Given the description of an element on the screen output the (x, y) to click on. 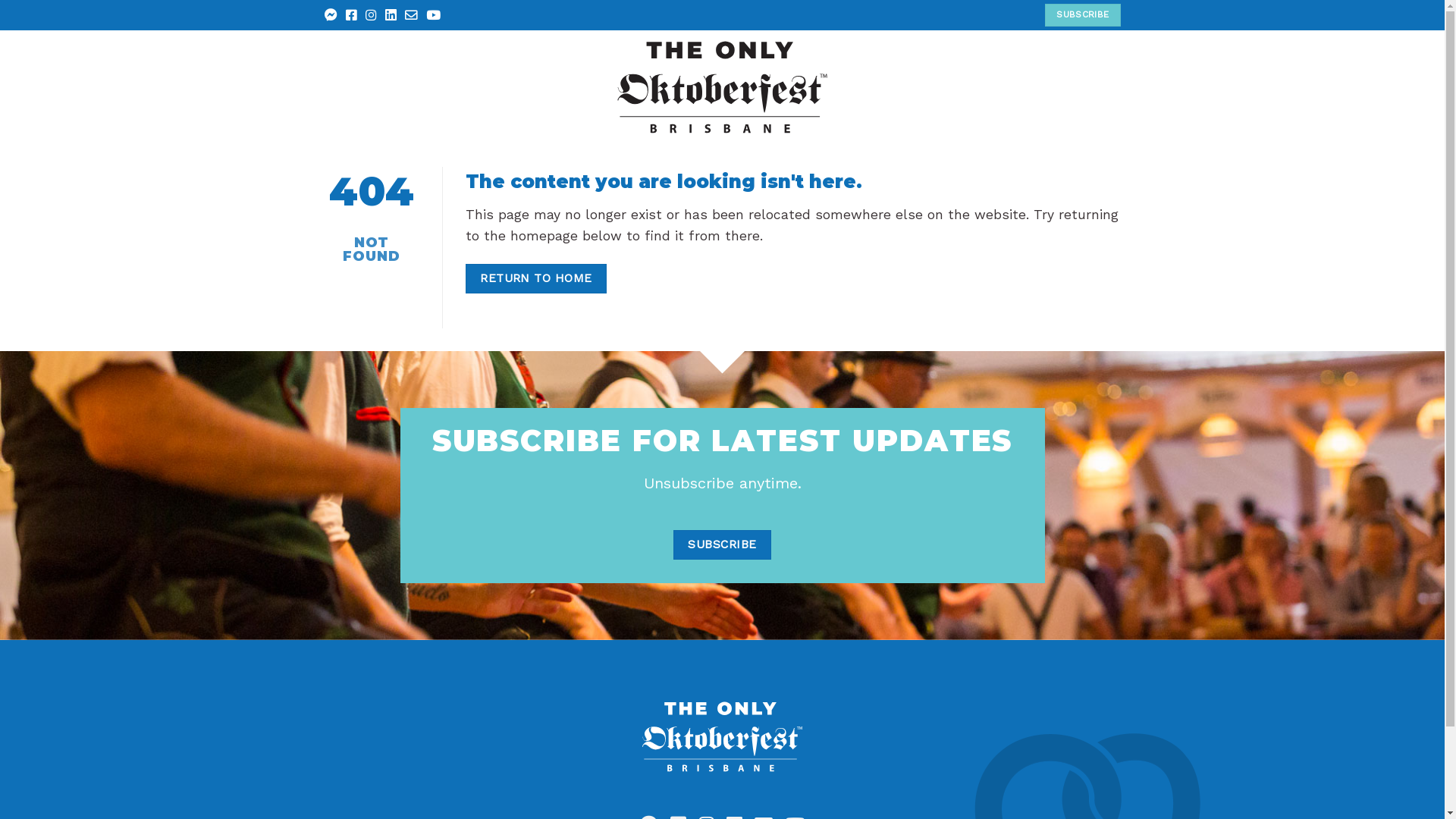
Skip to content Element type: text (0, 0)
RETURN TO HOME Element type: text (536, 278)
Oktoberfest Brisbane - The Only Oktoberfest Brisbane Element type: hover (721, 87)
SUBSCRIBE Element type: text (1082, 14)
SUBSCRIBE Element type: text (722, 544)
